Given the description of an element on the screen output the (x, y) to click on. 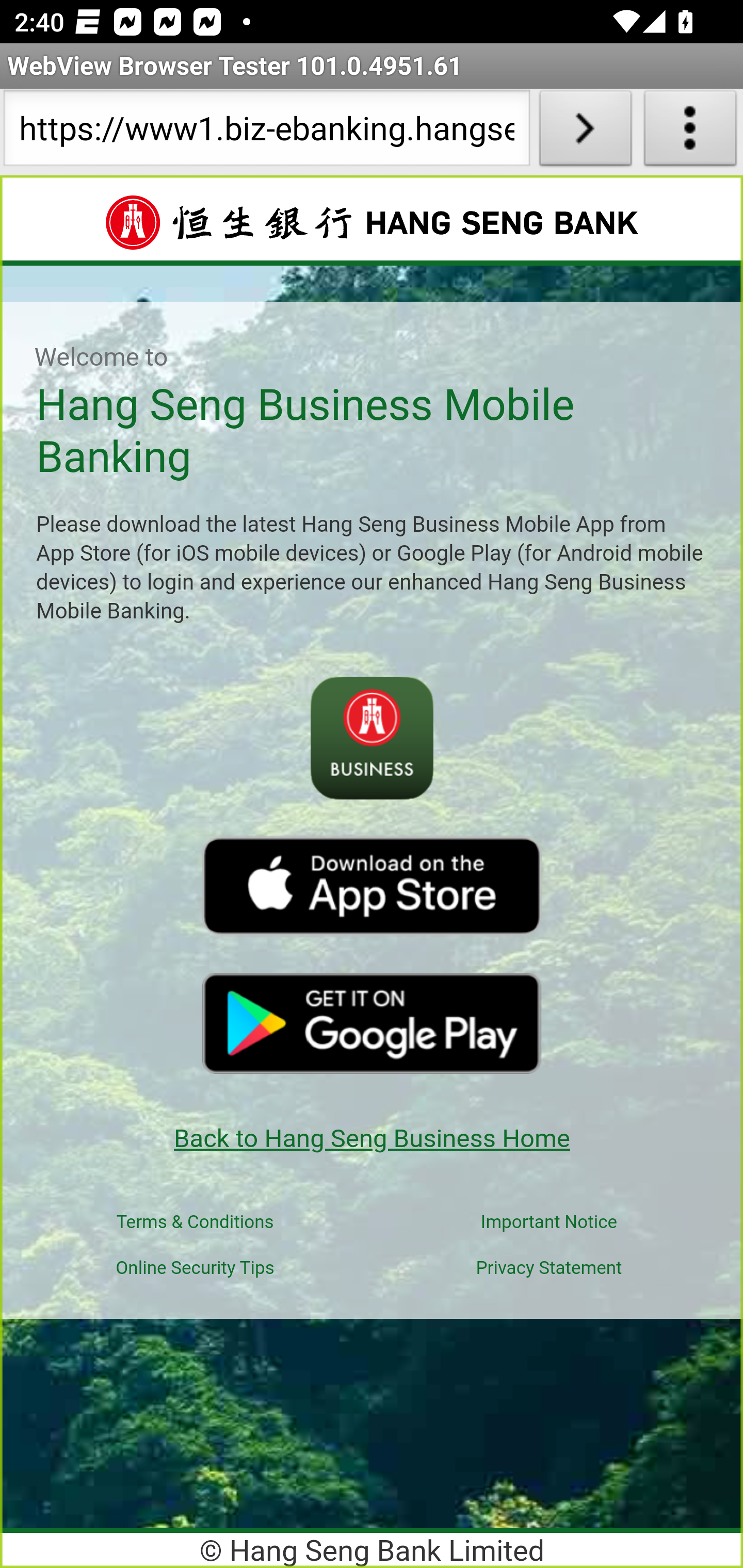
Load URL (585, 132)
About WebView (690, 132)
logo (371, 885)
logo (371, 1022)
Back to Hang Seng Business Home (371, 1138)
Terms & Conditions (194, 1223)
Important Notice (549, 1223)
Online Security Tips (194, 1267)
Privacy Statement (548, 1267)
